Given the description of an element on the screen output the (x, y) to click on. 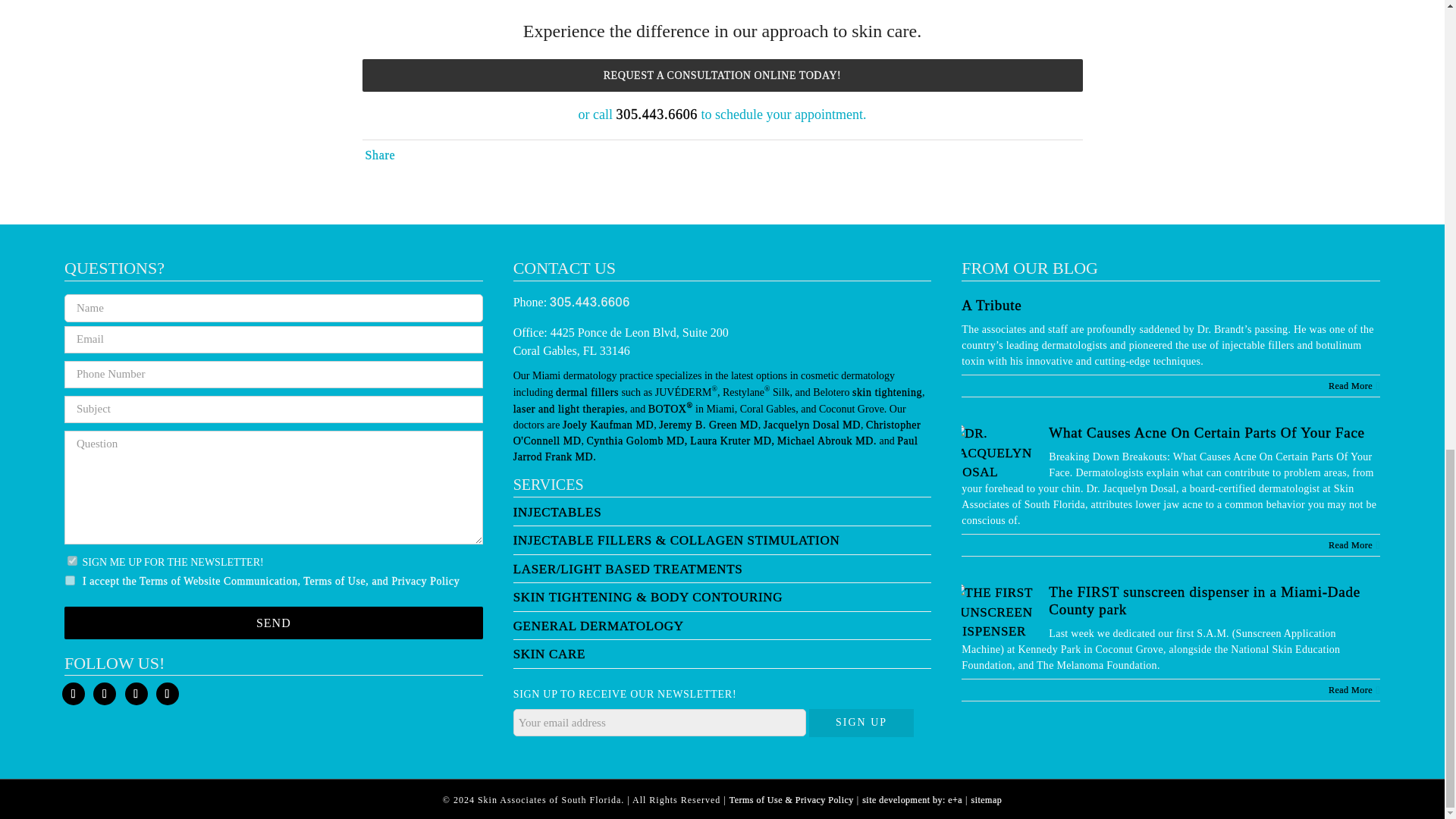
Default Label (167, 693)
- (70, 580)
Facebook (73, 693)
Sign up (861, 722)
1 (71, 560)
Instagram (135, 693)
Send (273, 622)
Twitter (104, 693)
